Given the description of an element on the screen output the (x, y) to click on. 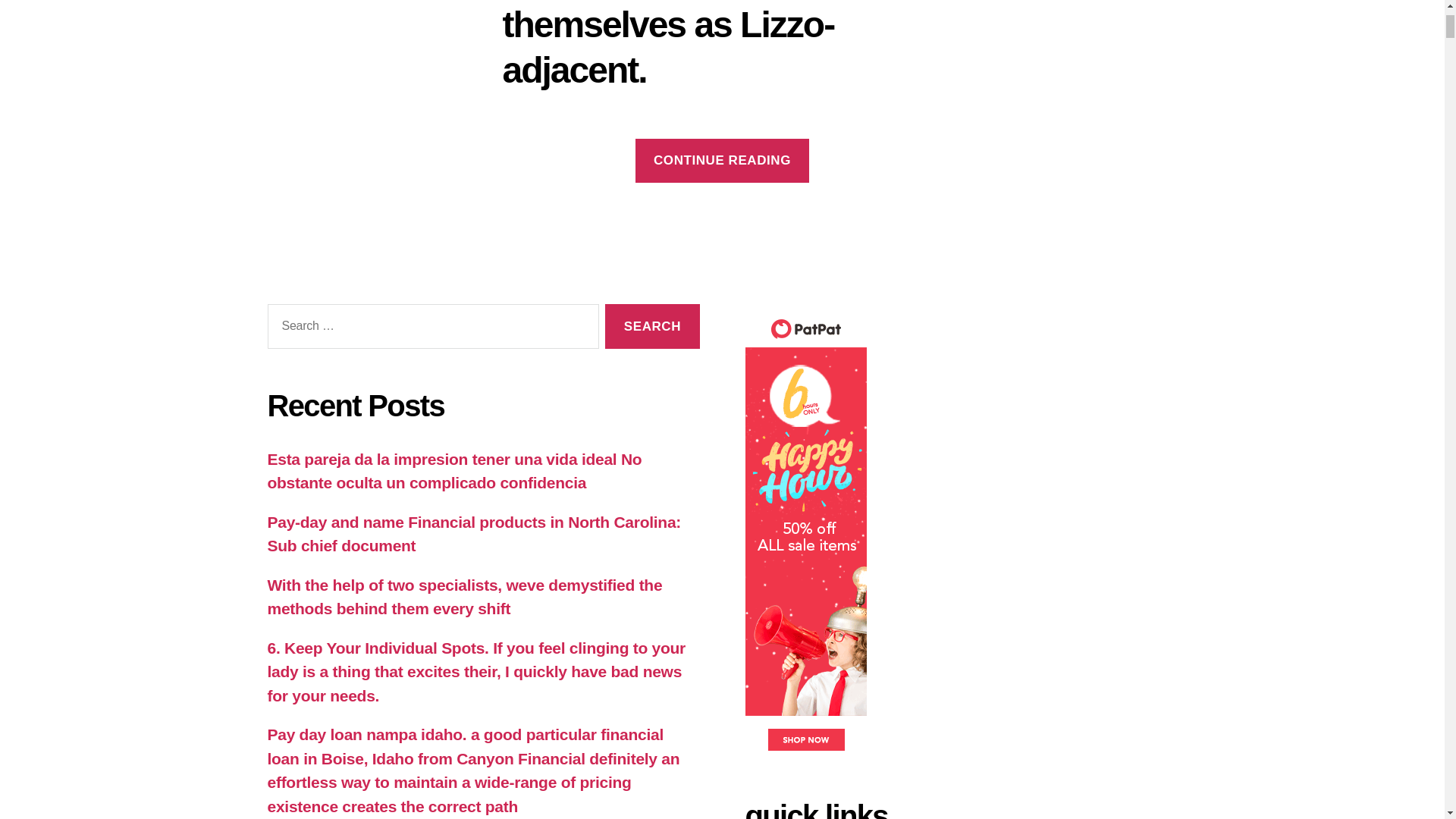
Search (651, 325)
Search (651, 325)
Search (651, 325)
